Given the description of an element on the screen output the (x, y) to click on. 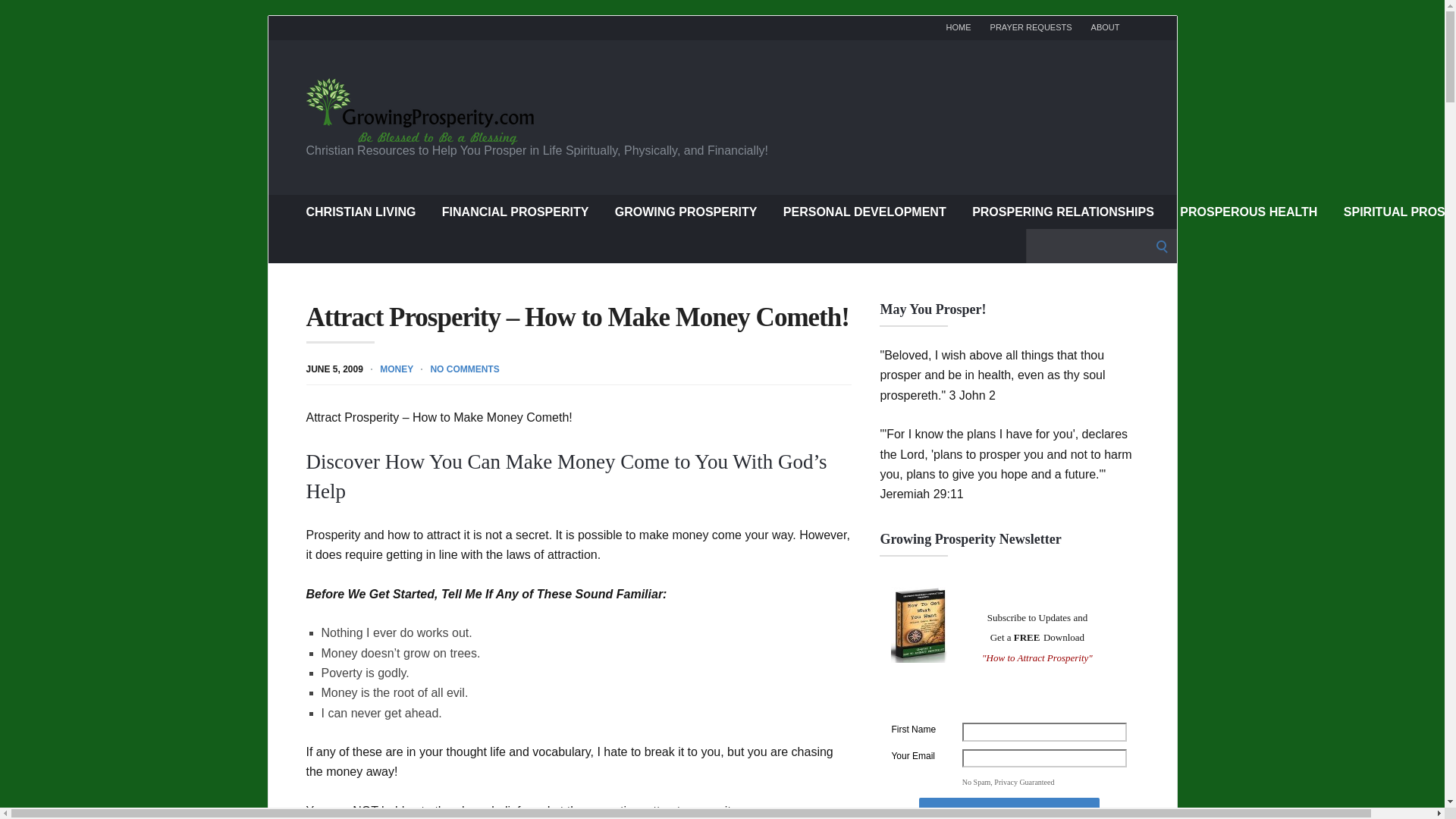
FINANCIAL PROSPERITY (515, 211)
Send Me Prosperity Resources (1009, 808)
CHRISTIAN LIVING (360, 211)
HOME (958, 27)
PROSPEROUS HEALTH (1248, 211)
PERSONAL DEVELOPMENT (864, 211)
PROSPERING RELATIONSHIPS (1063, 211)
ABOUT (1104, 27)
GROWING PROSPERITY (685, 211)
PRAYER REQUESTS (1030, 27)
